Given the description of an element on the screen output the (x, y) to click on. 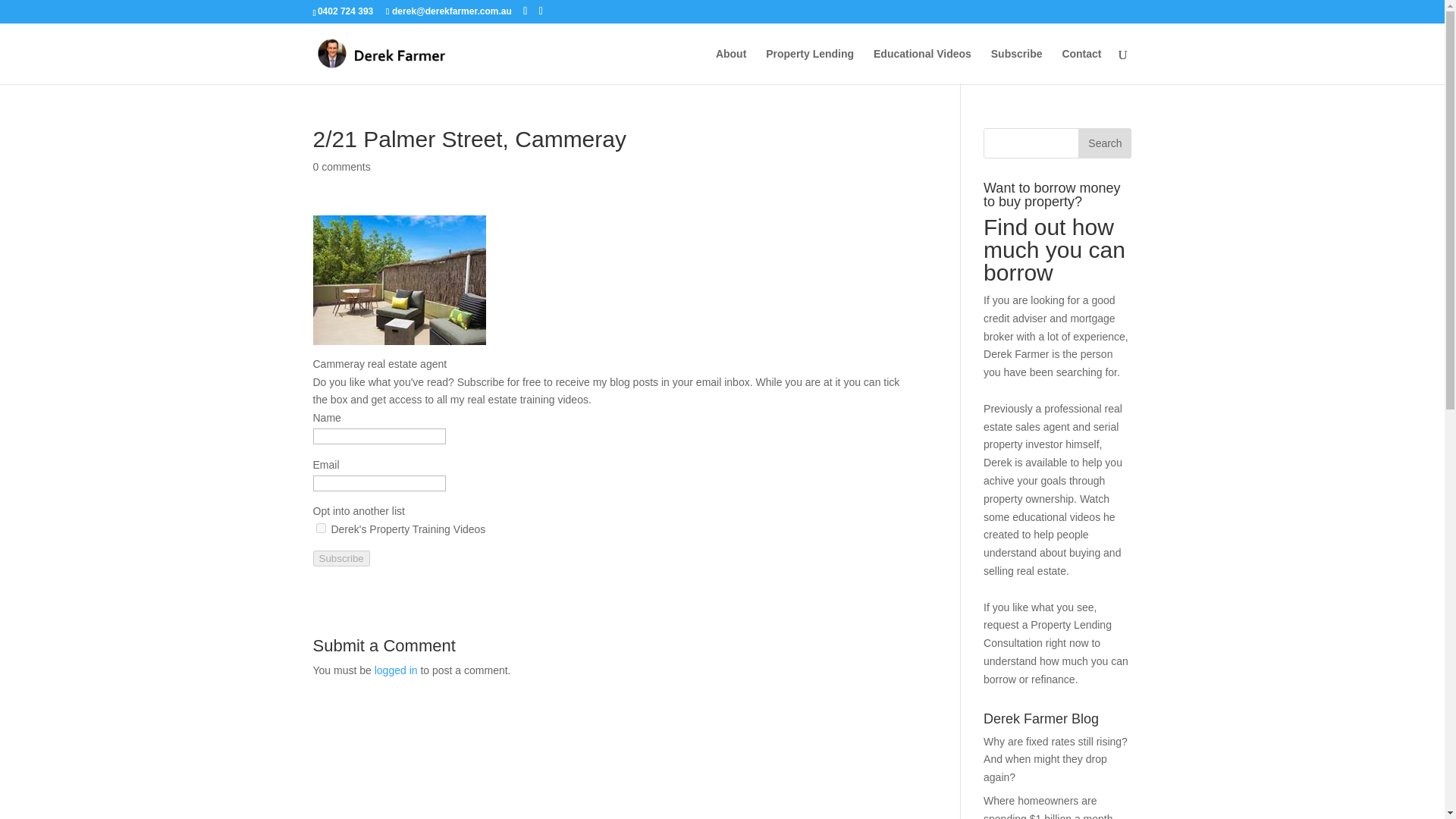
Educational Videos (922, 66)
Property Lending (809, 66)
Subscribe (1016, 66)
logged in (395, 670)
Search (1104, 142)
About (730, 66)
0 comments (341, 166)
Search (1104, 142)
on (319, 528)
request a Property Lending Consultation (1048, 634)
Subscribe (341, 558)
Contact (1080, 66)
understand about buying and selling real estate (1052, 562)
